Given the description of an element on the screen output the (x, y) to click on. 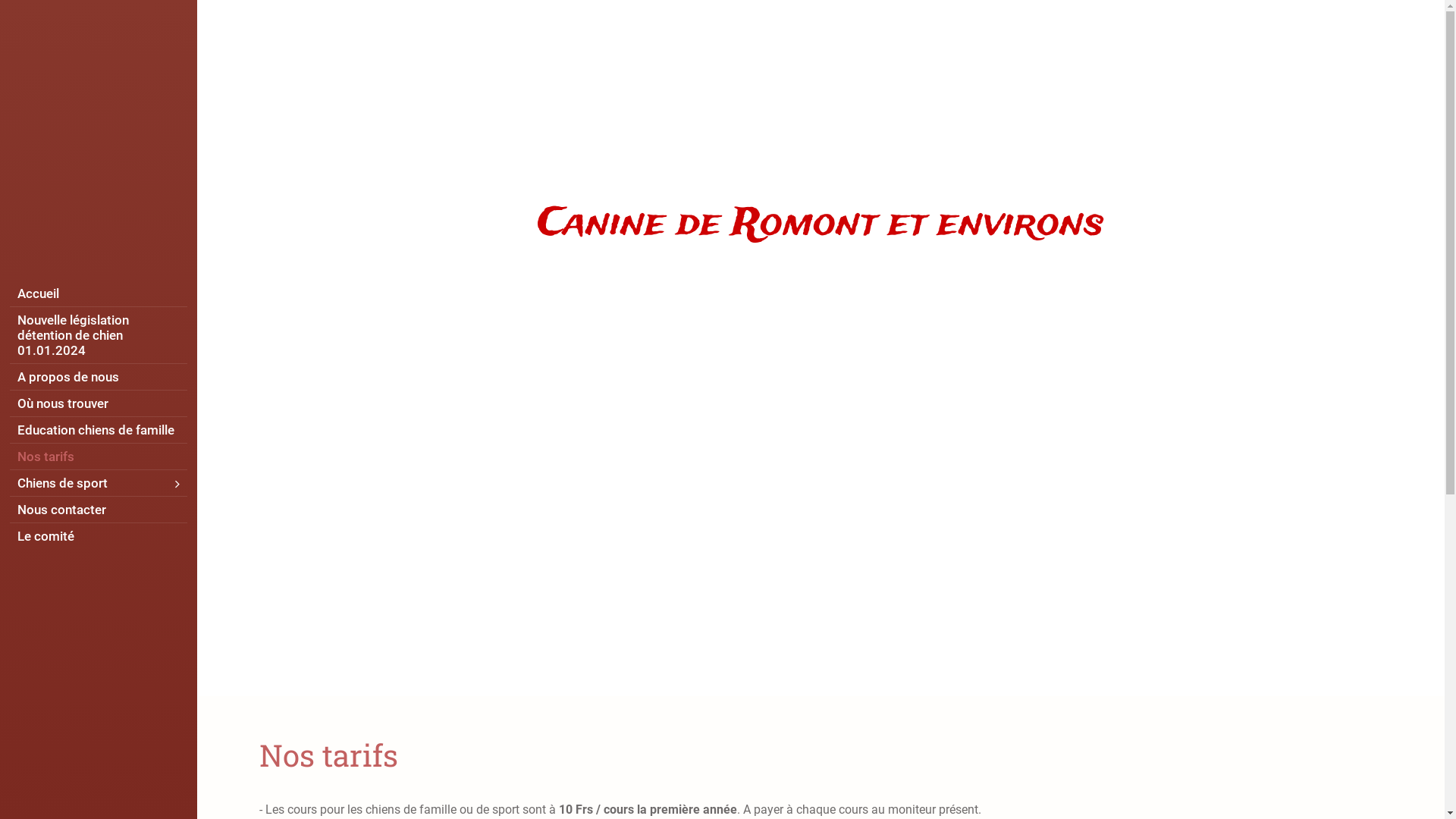
Accueil Element type: text (98, 293)
A propos de nous Element type: text (98, 376)
Nos tarifs Element type: text (98, 456)
Education chiens de famille Element type: text (98, 429)
Nous contacter Element type: text (98, 509)
Chiens de sport Element type: text (98, 482)
